Given the description of an element on the screen output the (x, y) to click on. 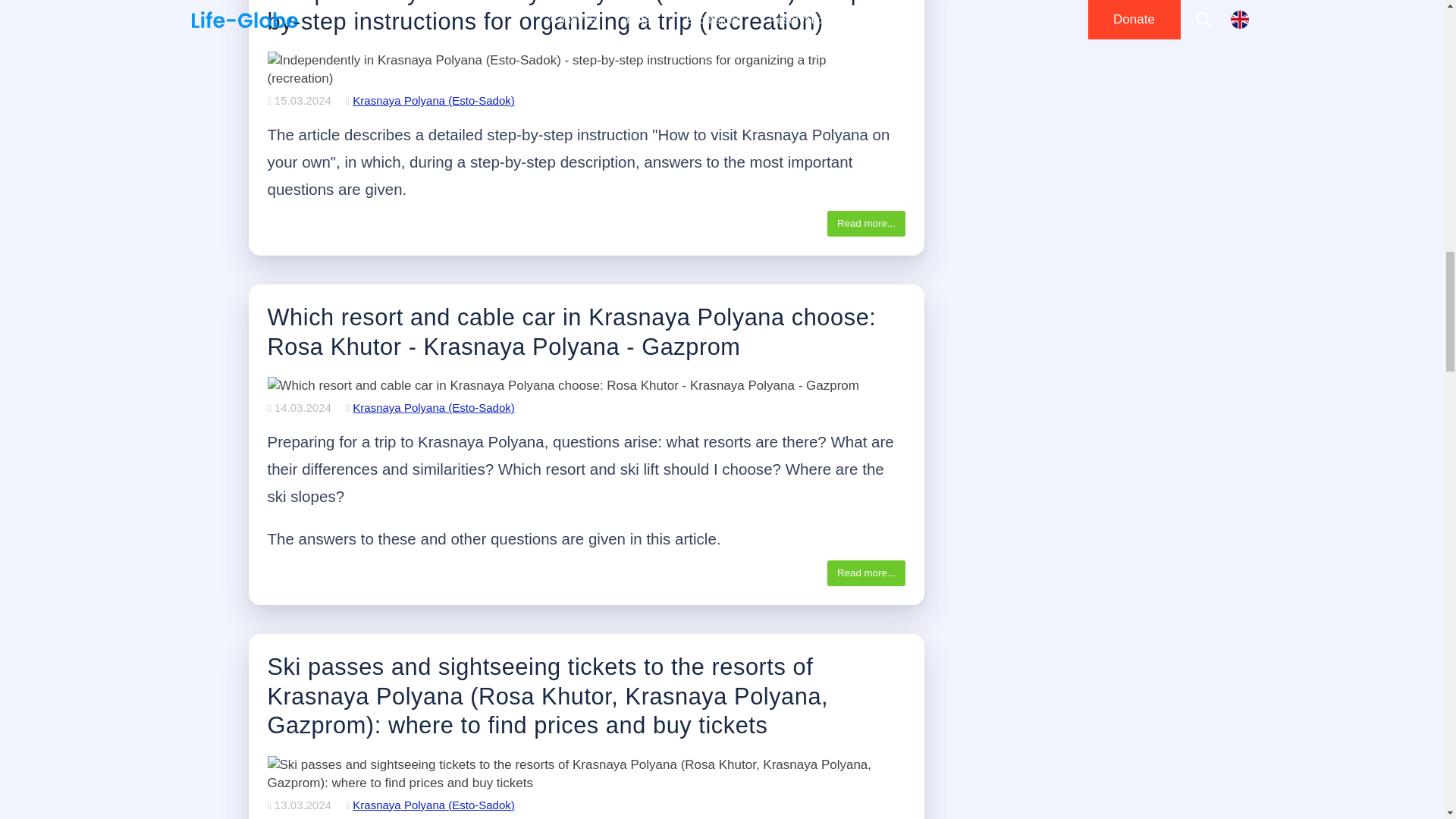
Category:  (430, 100)
